Given the description of an element on the screen output the (x, y) to click on. 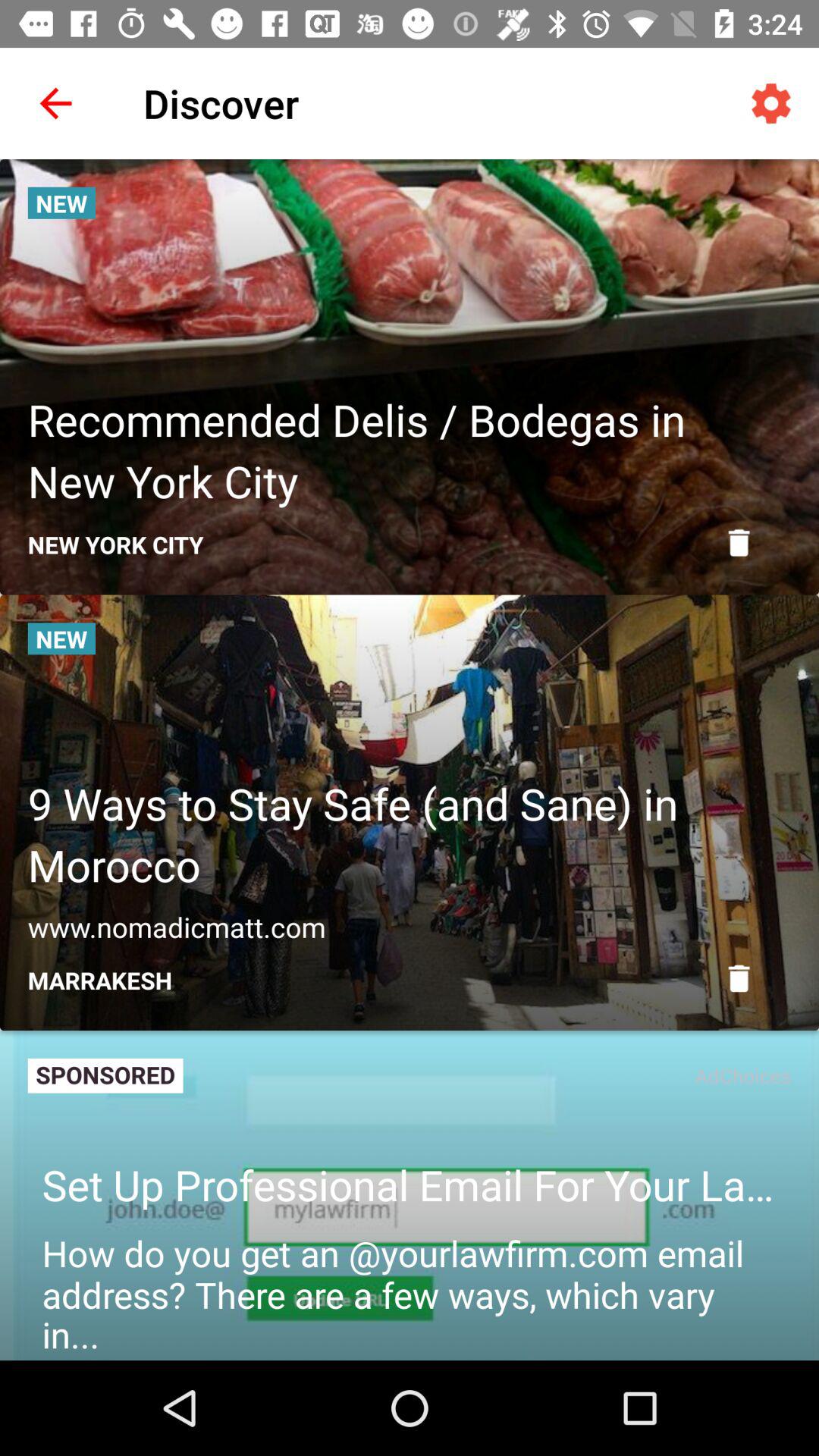
delete item (739, 978)
